Given the description of an element on the screen output the (x, y) to click on. 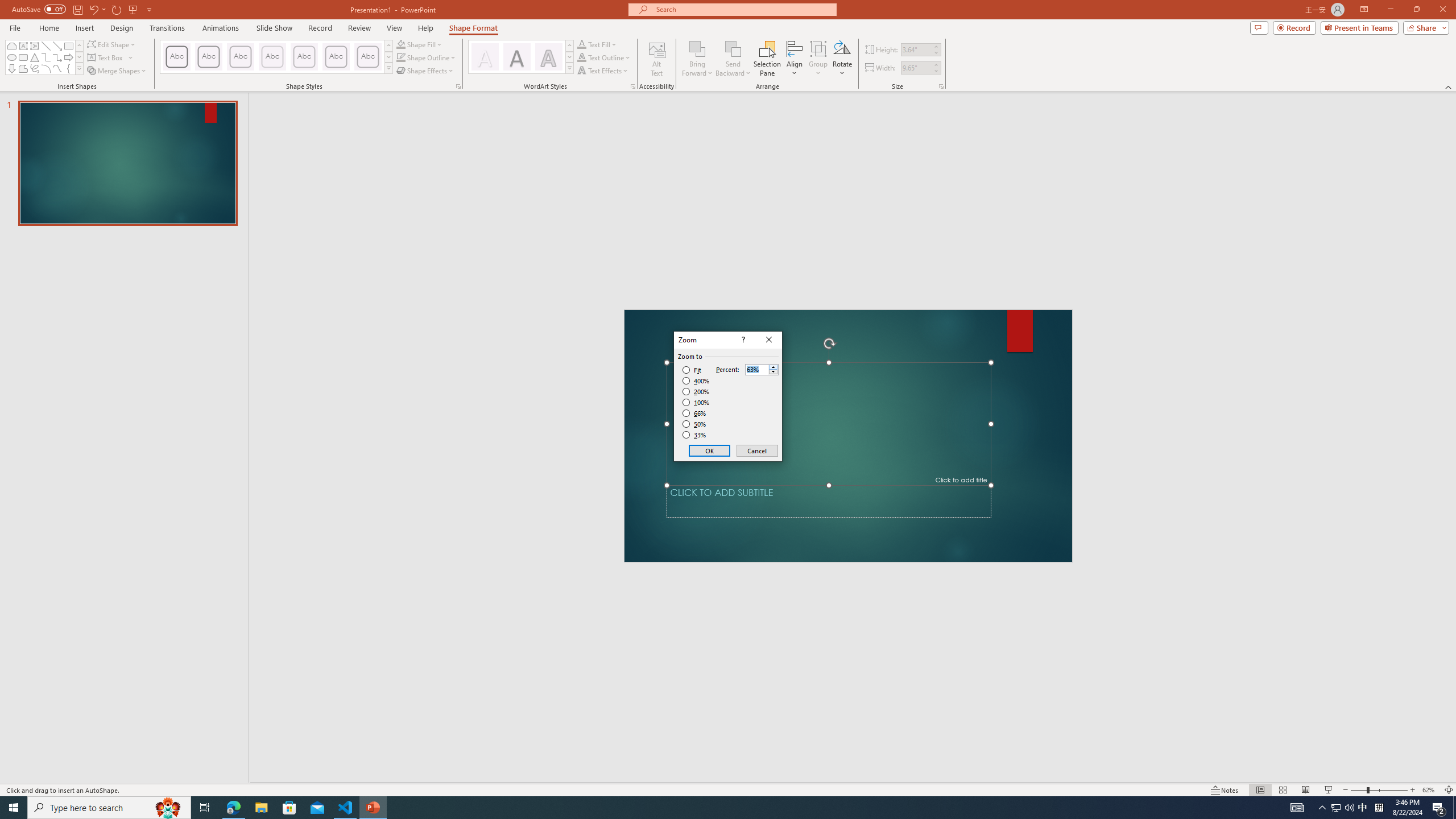
Fill: White, Text color 1; Shadow (484, 56)
Merge Shapes (117, 69)
Size and Position... (941, 85)
Bring Forward (697, 48)
Format Text Effects... (632, 85)
